Given the description of an element on the screen output the (x, y) to click on. 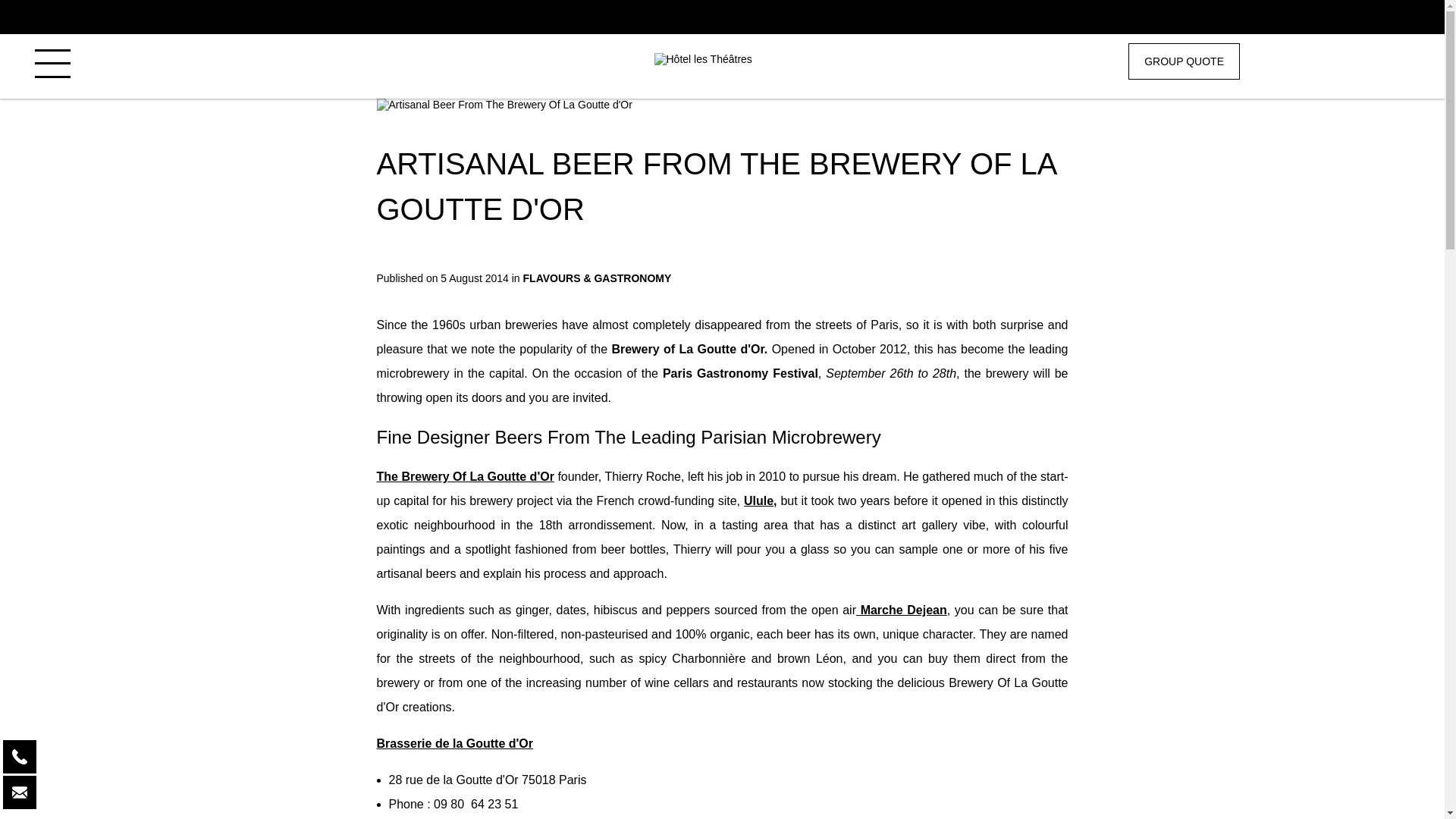
Email (19, 792)
The Brewery Of La Goutte d'Or (464, 476)
Marche Dejean (901, 609)
GROUP QUOTE (1184, 61)
Phone (19, 756)
Ulule, (760, 500)
Brasserie de la Goutte d'Or (453, 743)
